Given the description of an element on the screen output the (x, y) to click on. 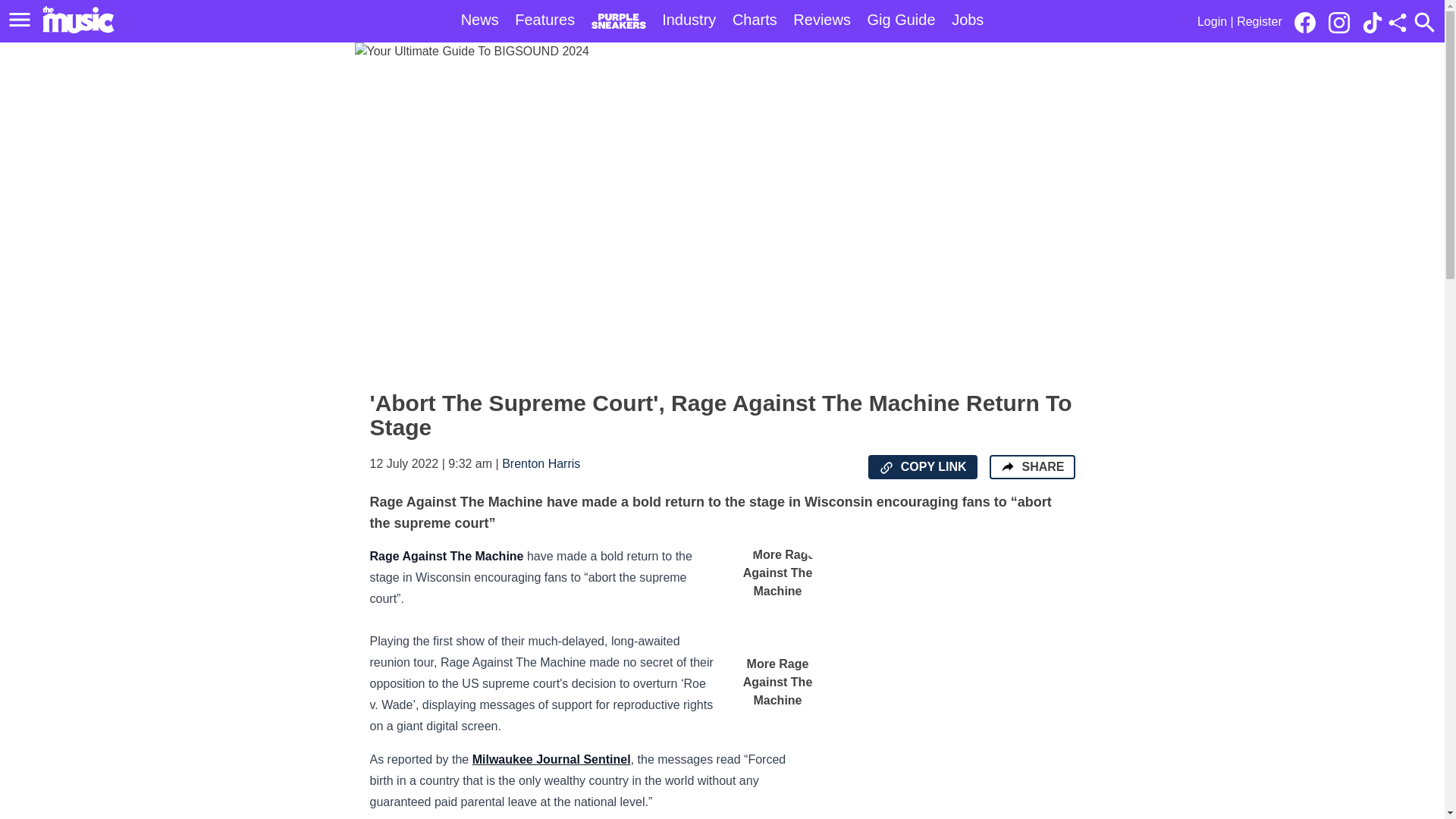
Copy the page URL COPY LINK (921, 467)
Link to our Facebook (1305, 22)
Share this page (1397, 22)
Link to our TikTok (1372, 21)
Features (545, 19)
Gig Guide (901, 19)
Link to our Instagram (1342, 21)
Link to our Facebook (1309, 21)
Link to our TikTok (1372, 22)
Open the site search menu (1424, 22)
